Given the description of an element on the screen output the (x, y) to click on. 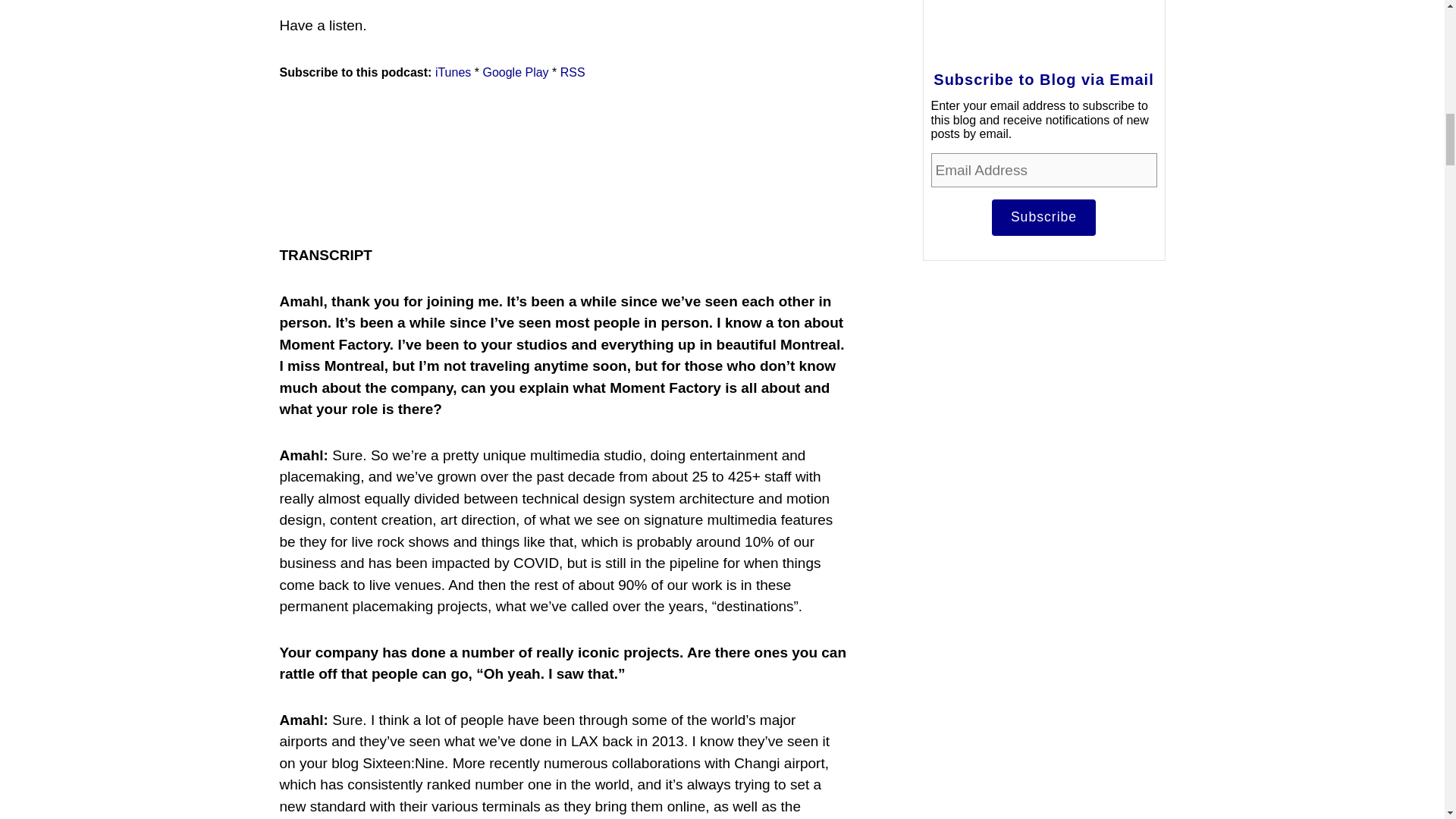
iTunes (452, 72)
RSS (572, 72)
Subscribe (1043, 217)
Google Play (514, 72)
